Given the description of an element on the screen output the (x, y) to click on. 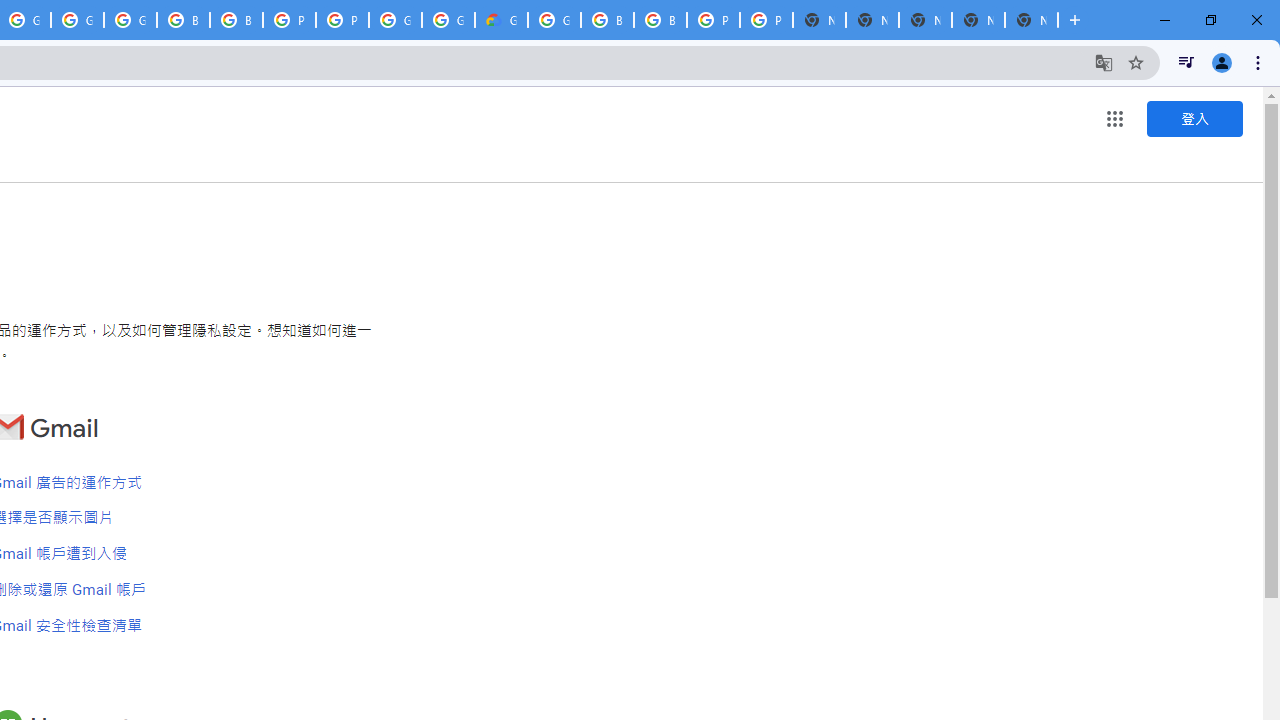
Translate this page (1103, 62)
Browse Chrome as a guest - Computer - Google Chrome Help (183, 20)
Google Cloud Platform (395, 20)
Browse Chrome as a guest - Computer - Google Chrome Help (660, 20)
New Tab (1031, 20)
